Given the description of an element on the screen output the (x, y) to click on. 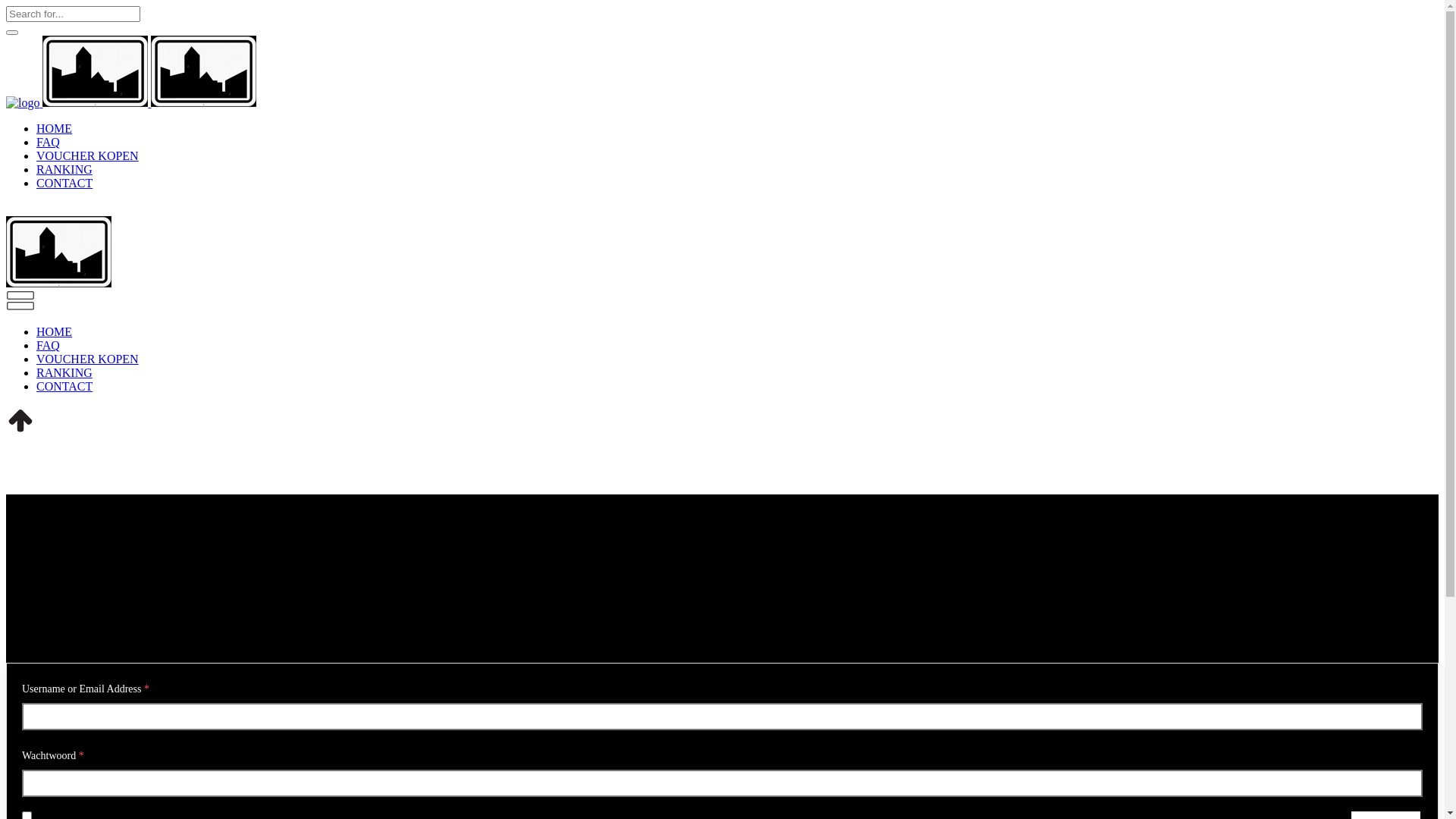
HOME Element type: text (54, 128)
VOUCHER KOPEN Element type: text (87, 155)
FAQ Element type: text (47, 344)
RANKING Element type: text (64, 169)
HOME Element type: text (54, 331)
RANKING Element type: text (64, 372)
VOUCHER KOPEN Element type: text (87, 358)
CONTACT Element type: text (64, 182)
FAQ Element type: text (47, 141)
CONTACT Element type: text (64, 385)
